Given the description of an element on the screen output the (x, y) to click on. 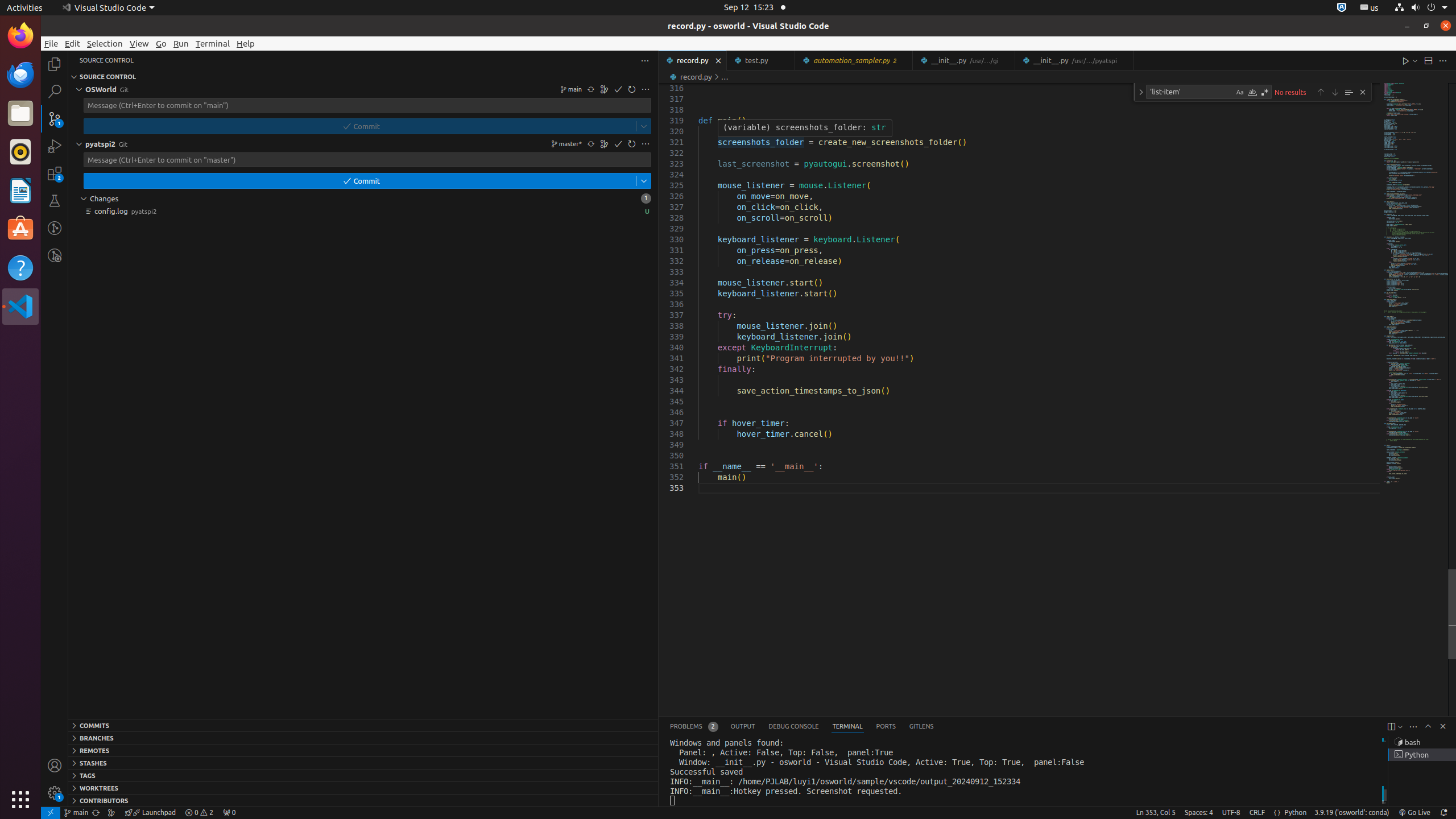
Testing Element type: page-tab (54, 200)
Edit Element type: push-button (72, 43)
Synchronize Changes Element type: push-button (590, 143)
OSWorld (Git) - main, Checkout Branch/Tag... Element type: push-button (75, 812)
Terminal 1 bash Element type: list-item (1422, 741)
